Given the description of an element on the screen output the (x, y) to click on. 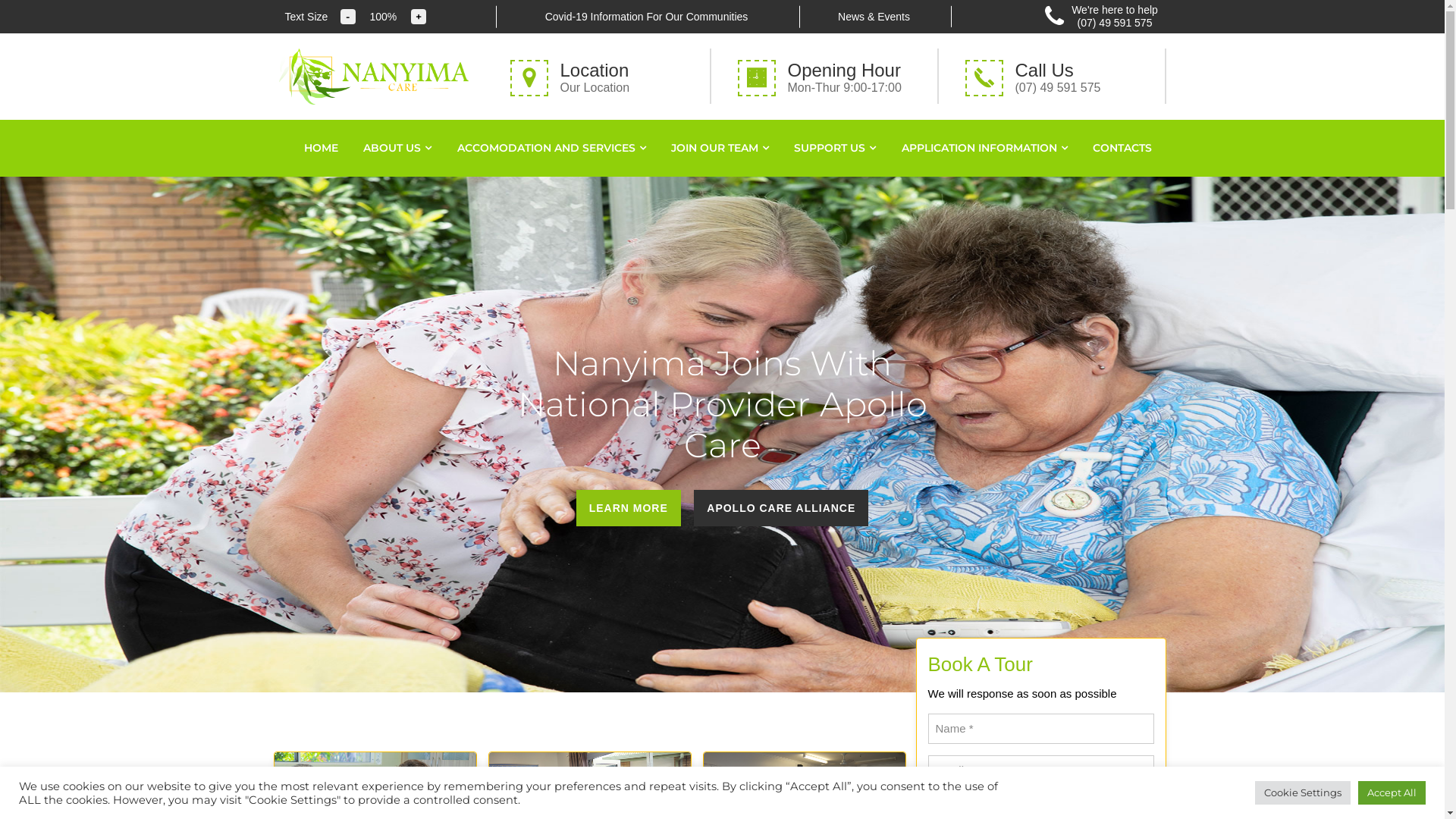
- Element type: text (347, 16)
Call Us
(07) 49 591 575 Element type: text (1062, 76)
Covid-19 Information For Our Communities Element type: text (646, 16)
SUPPORT US Element type: text (834, 148)
JOIN OUR TEAM Element type: text (719, 148)
ACCOMODATION AND SERVICES Element type: text (551, 148)
APOLLO CARE ALLIANCE Element type: text (780, 507)
Location
Our Location Element type: text (607, 76)
Accept All Element type: text (1391, 792)
APPLICATION INFORMATION Element type: text (984, 148)
News & Events Element type: text (873, 16)
+ Element type: text (418, 16)
ABOUT US Element type: text (396, 148)
Cookie Settings Element type: text (1302, 792)
CONTACTS Element type: text (1122, 148)
HOME Element type: text (320, 148)
LEARN MORE Element type: text (628, 507)
